Given the description of an element on the screen output the (x, y) to click on. 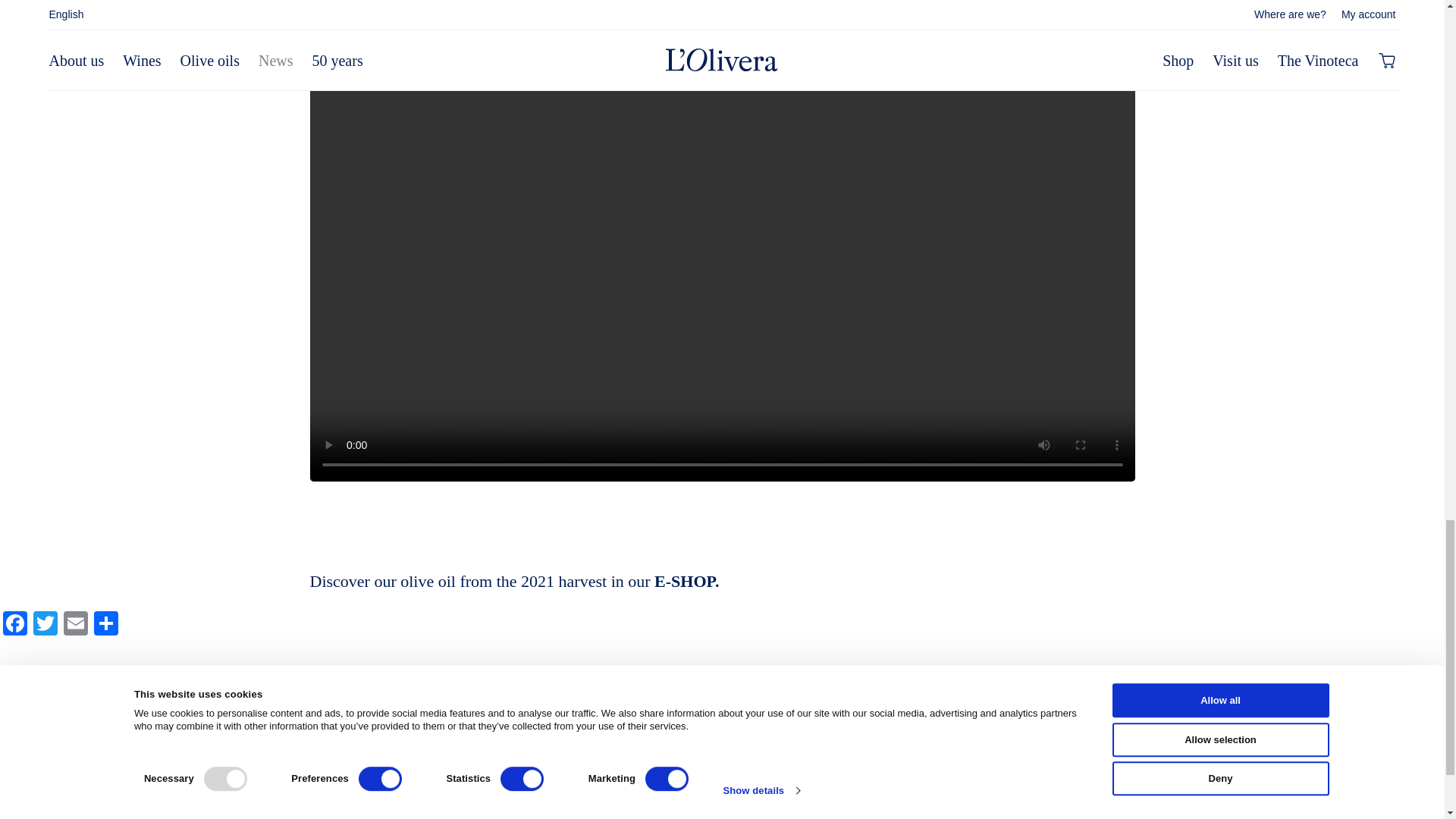
Twitter (45, 624)
Email (75, 624)
Subscribe (397, 809)
Facebook (15, 624)
